Given the description of an element on the screen output the (x, y) to click on. 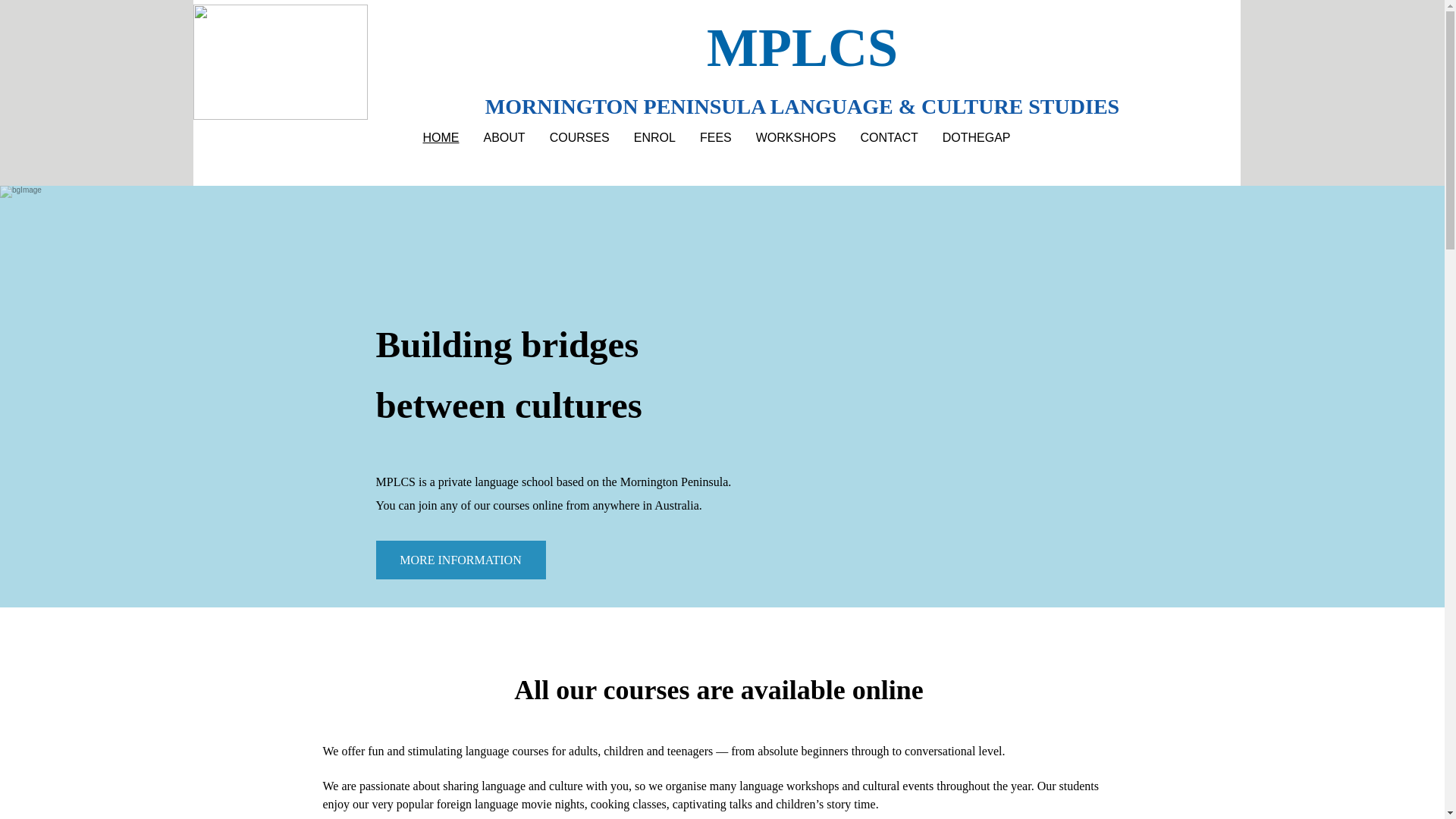
DOTHEGAP Element type: text (976, 137)
WORKSHOPS Element type: text (795, 137)
ENROL Element type: text (654, 137)
CONTACT Element type: text (889, 137)
FEES Element type: text (715, 137)
HOME Element type: text (441, 137)
COURSES Element type: text (579, 137)
ABOUT Element type: text (504, 137)
MORE INFORMATION Element type: text (461, 559)
